Given the description of an element on the screen output the (x, y) to click on. 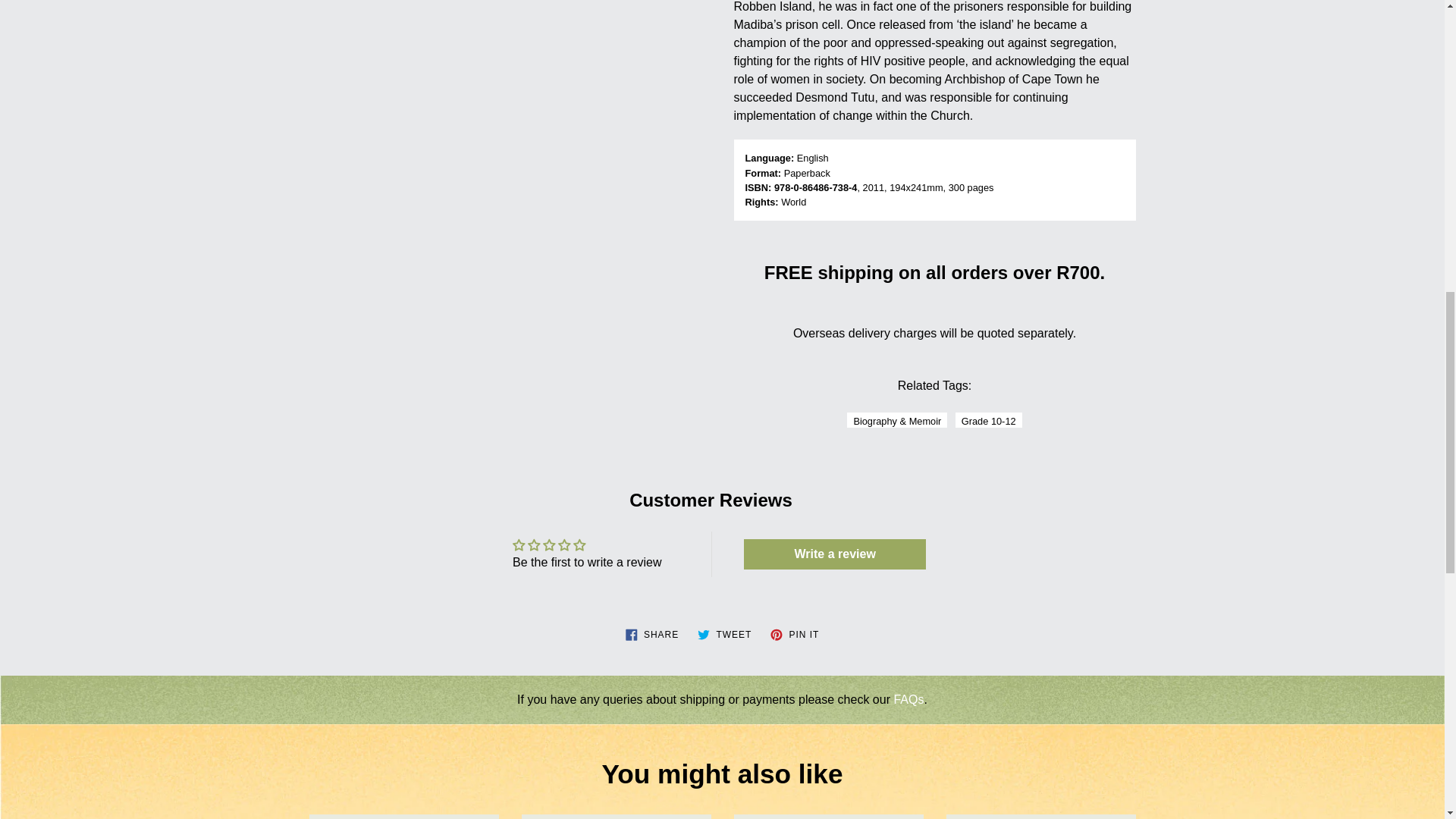
Grade 10-12 (794, 632)
MPUMI AND JABU'S MAGICAL DAY (988, 419)
FAQs (403, 816)
Write a review (724, 632)
